Given the description of an element on the screen output the (x, y) to click on. 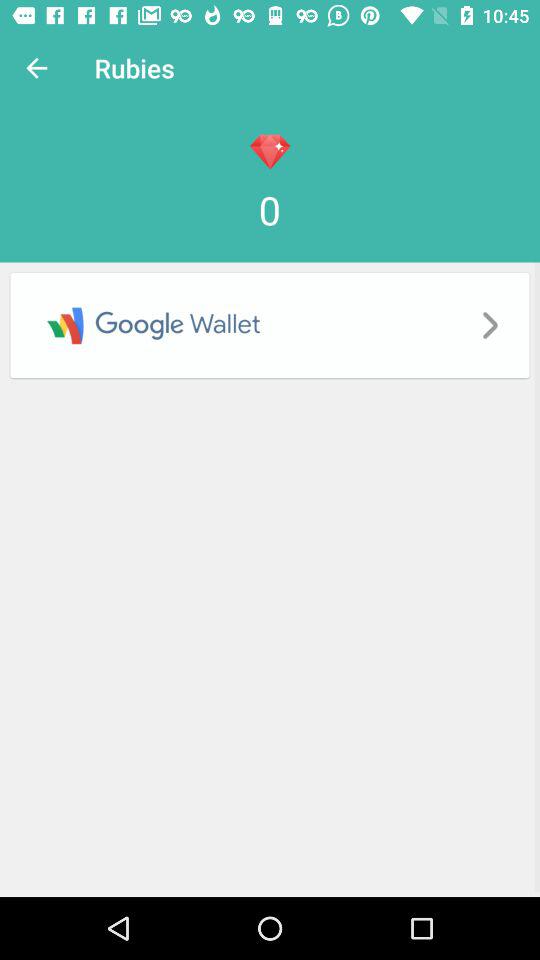
open item to the left of rubies (36, 68)
